Given the description of an element on the screen output the (x, y) to click on. 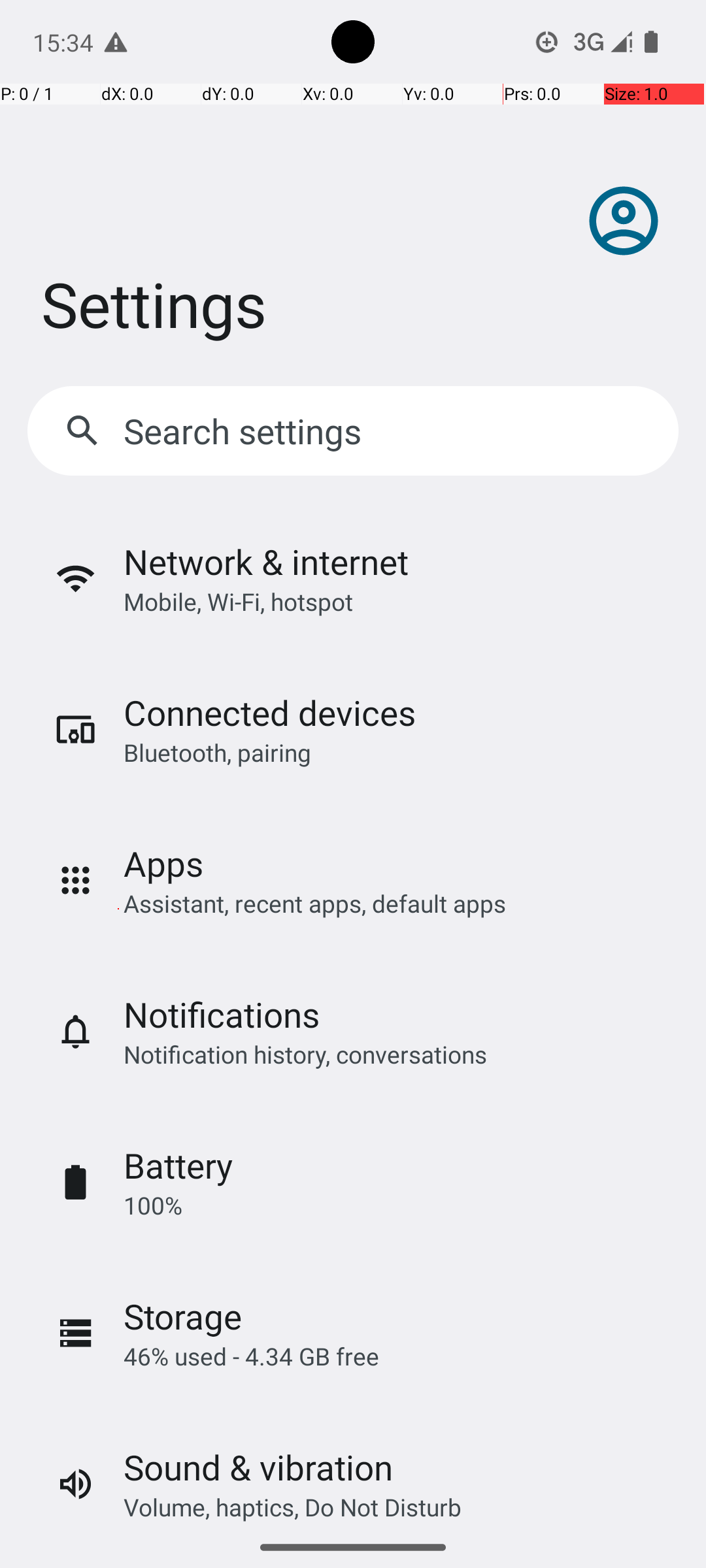
46% used - 4.34 GB free Element type: android.widget.TextView (251, 1355)
